Given the description of an element on the screen output the (x, y) to click on. 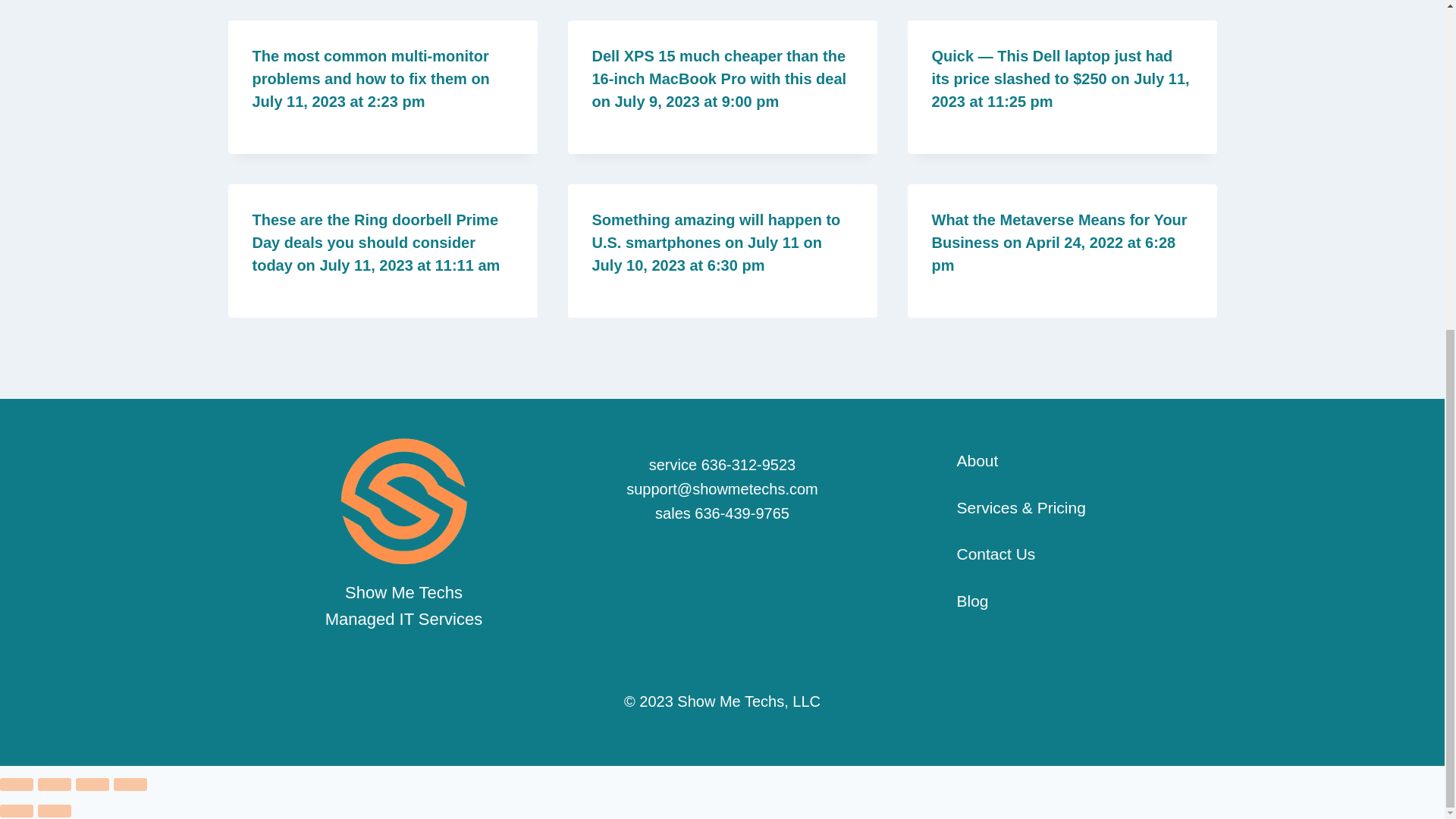
About (957, 460)
Blog (953, 601)
Contact Us (976, 554)
